Given the description of an element on the screen output the (x, y) to click on. 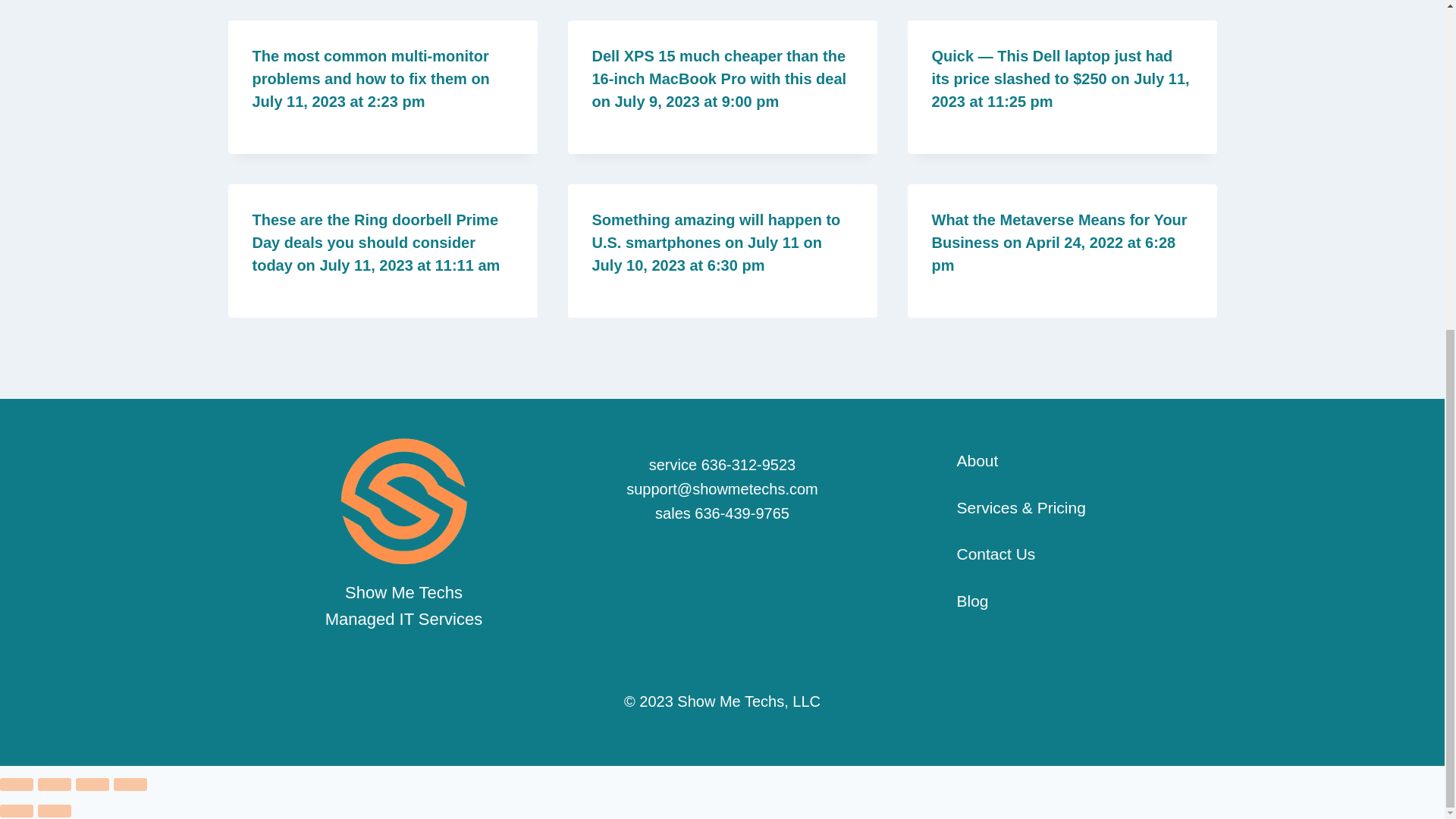
About (957, 460)
Blog (953, 601)
Contact Us (976, 554)
